Given the description of an element on the screen output the (x, y) to click on. 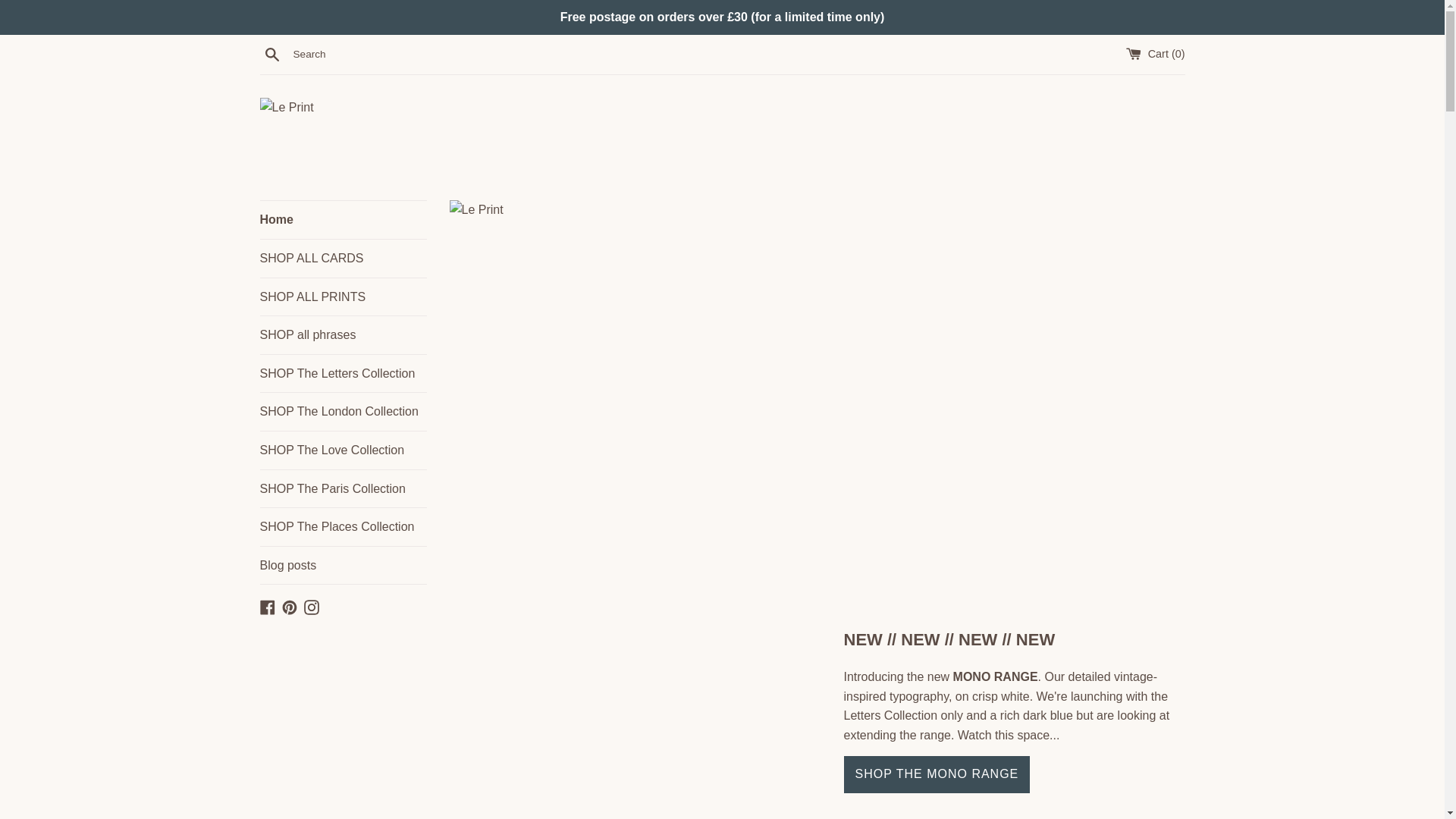
SHOP ALL CARDS (342, 258)
Le Print on Pinterest (289, 605)
SHOP ALL PRINTS (342, 297)
Blog posts (342, 565)
Le Print on Instagram (311, 605)
SHOP The London Collection (342, 411)
SHOP The Letters Collection (342, 373)
Instagram (311, 605)
SHOP The Places Collection (342, 526)
Search (271, 53)
